Given the description of an element on the screen output the (x, y) to click on. 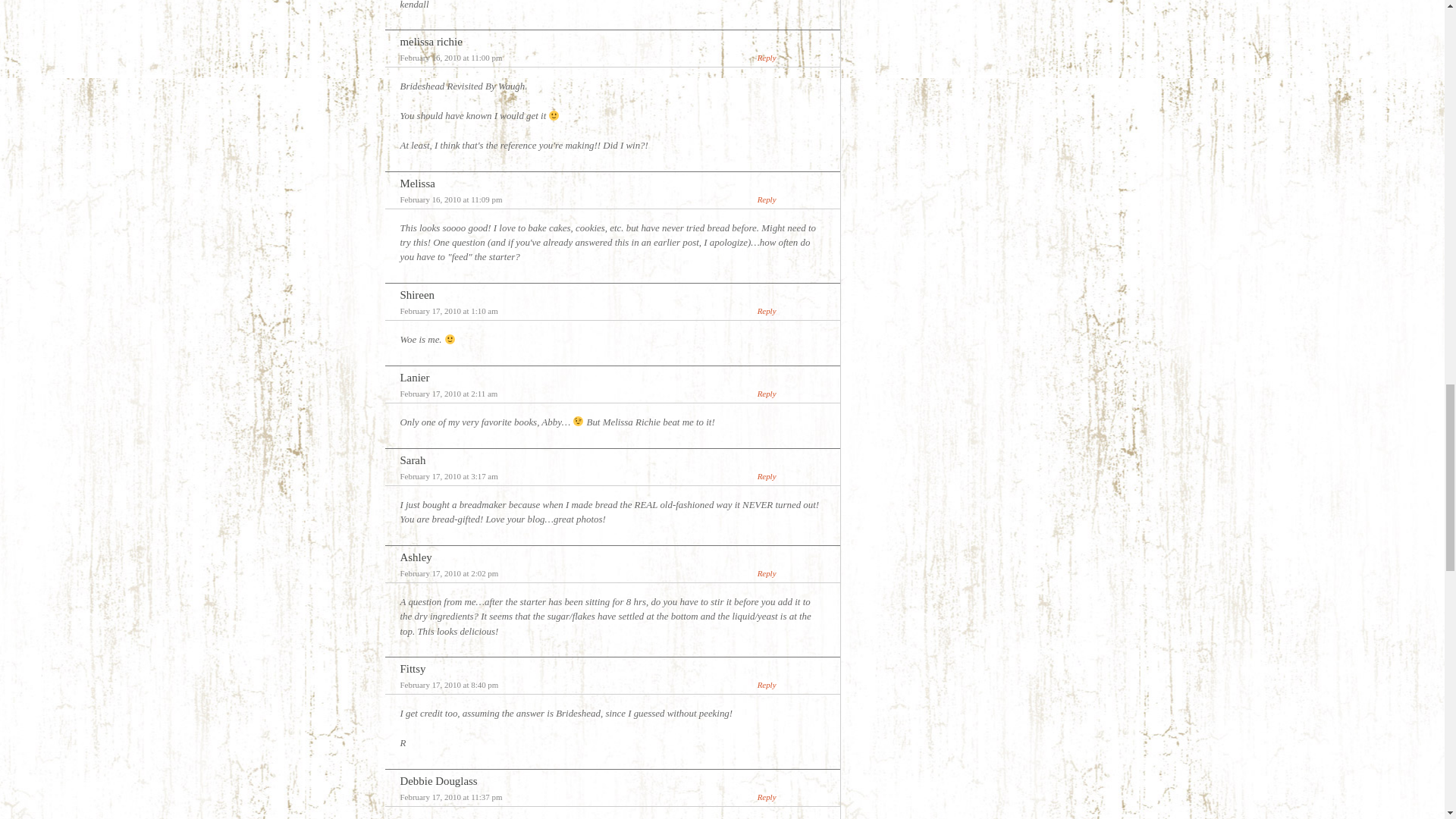
February 16, 2010 at 11:00 pm (451, 57)
Reply (766, 57)
Reply (766, 684)
February 17, 2010 at 2:02 pm (449, 573)
February 16, 2010 at 11:09 pm (451, 198)
Reply (766, 199)
Reply (766, 310)
February 17, 2010 at 3:17 am (448, 475)
February 17, 2010 at 2:11 am (448, 393)
February 17, 2010 at 8:40 pm (449, 684)
Reply (766, 573)
February 17, 2010 at 1:10 am (448, 310)
Reply (766, 476)
Reply (766, 393)
